Given the description of an element on the screen output the (x, y) to click on. 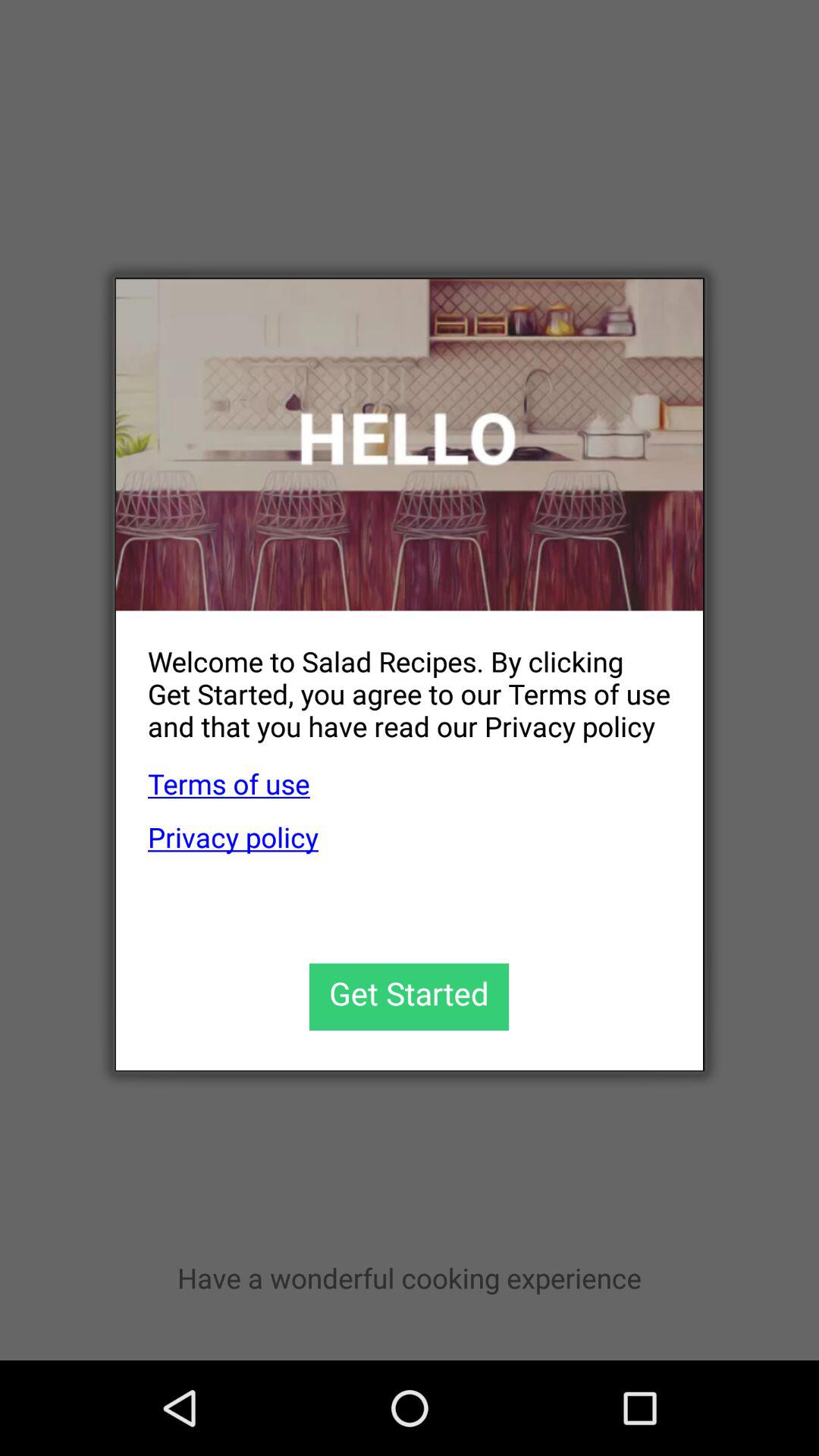
get started (409, 996)
